Given the description of an element on the screen output the (x, y) to click on. 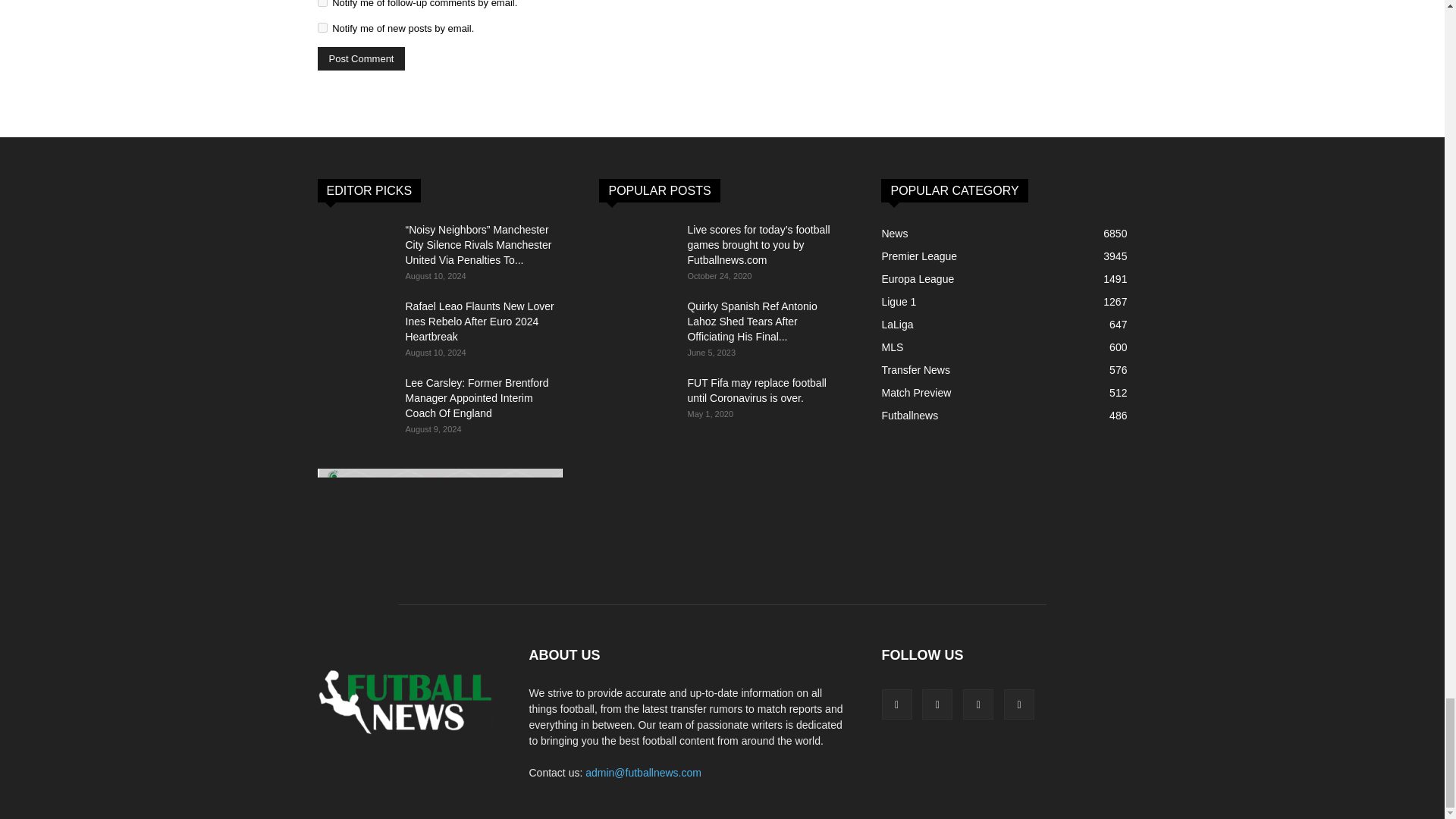
subscribe (321, 3)
subscribe (321, 27)
Post Comment (360, 58)
